Given the description of an element on the screen output the (x, y) to click on. 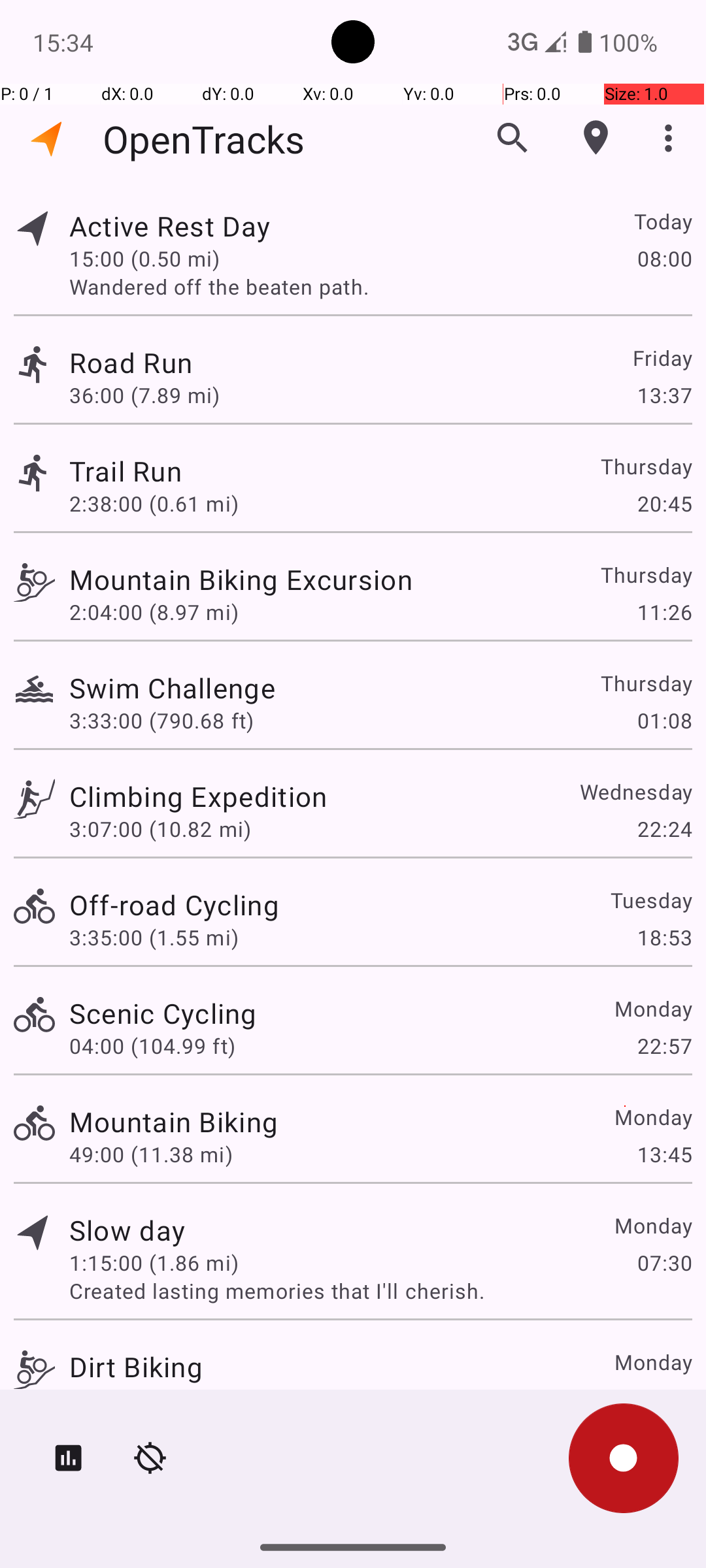
Active Rest Day Element type: android.widget.TextView (169, 225)
15:00 (0.50 mi) Element type: android.widget.TextView (144, 258)
08:00 Element type: android.widget.TextView (664, 258)
Wandered off the beaten path. Element type: android.widget.TextView (380, 286)
Road Run Element type: android.widget.TextView (130, 361)
36:00 (7.89 mi) Element type: android.widget.TextView (144, 394)
13:37 Element type: android.widget.TextView (664, 394)
Trail Run Element type: android.widget.TextView (125, 470)
2:38:00 (0.61 mi) Element type: android.widget.TextView (153, 503)
20:45 Element type: android.widget.TextView (664, 503)
Mountain Biking Excursion Element type: android.widget.TextView (240, 578)
2:04:00 (8.97 mi) Element type: android.widget.TextView (153, 611)
11:26 Element type: android.widget.TextView (664, 611)
Swim Challenge Element type: android.widget.TextView (171, 687)
3:33:00 (790.68 ft) Element type: android.widget.TextView (161, 720)
01:08 Element type: android.widget.TextView (664, 720)
Climbing Expedition Element type: android.widget.TextView (197, 795)
3:07:00 (10.82 mi) Element type: android.widget.TextView (159, 828)
22:24 Element type: android.widget.TextView (664, 828)
Off-road Cycling Element type: android.widget.TextView (173, 904)
3:35:00 (1.55 mi) Element type: android.widget.TextView (153, 937)
18:53 Element type: android.widget.TextView (664, 937)
Scenic Cycling Element type: android.widget.TextView (162, 1012)
04:00 (104.99 ft) Element type: android.widget.TextView (151, 1045)
22:57 Element type: android.widget.TextView (664, 1045)
Mountain Biking Element type: android.widget.TextView (173, 1121)
49:00 (11.38 mi) Element type: android.widget.TextView (150, 1154)
13:45 Element type: android.widget.TextView (664, 1154)
Slow day Element type: android.widget.TextView (126, 1229)
1:15:00 (1.86 mi) Element type: android.widget.TextView (153, 1262)
07:30 Element type: android.widget.TextView (664, 1262)
Created lasting memories that I'll cherish. Element type: android.widget.TextView (380, 1290)
Dirt Biking Element type: android.widget.TextView (135, 1366)
4:17:00 (1.05 mi) Element type: android.widget.TextView (153, 1399)
03:24 Element type: android.widget.TextView (664, 1399)
